Given the description of an element on the screen output the (x, y) to click on. 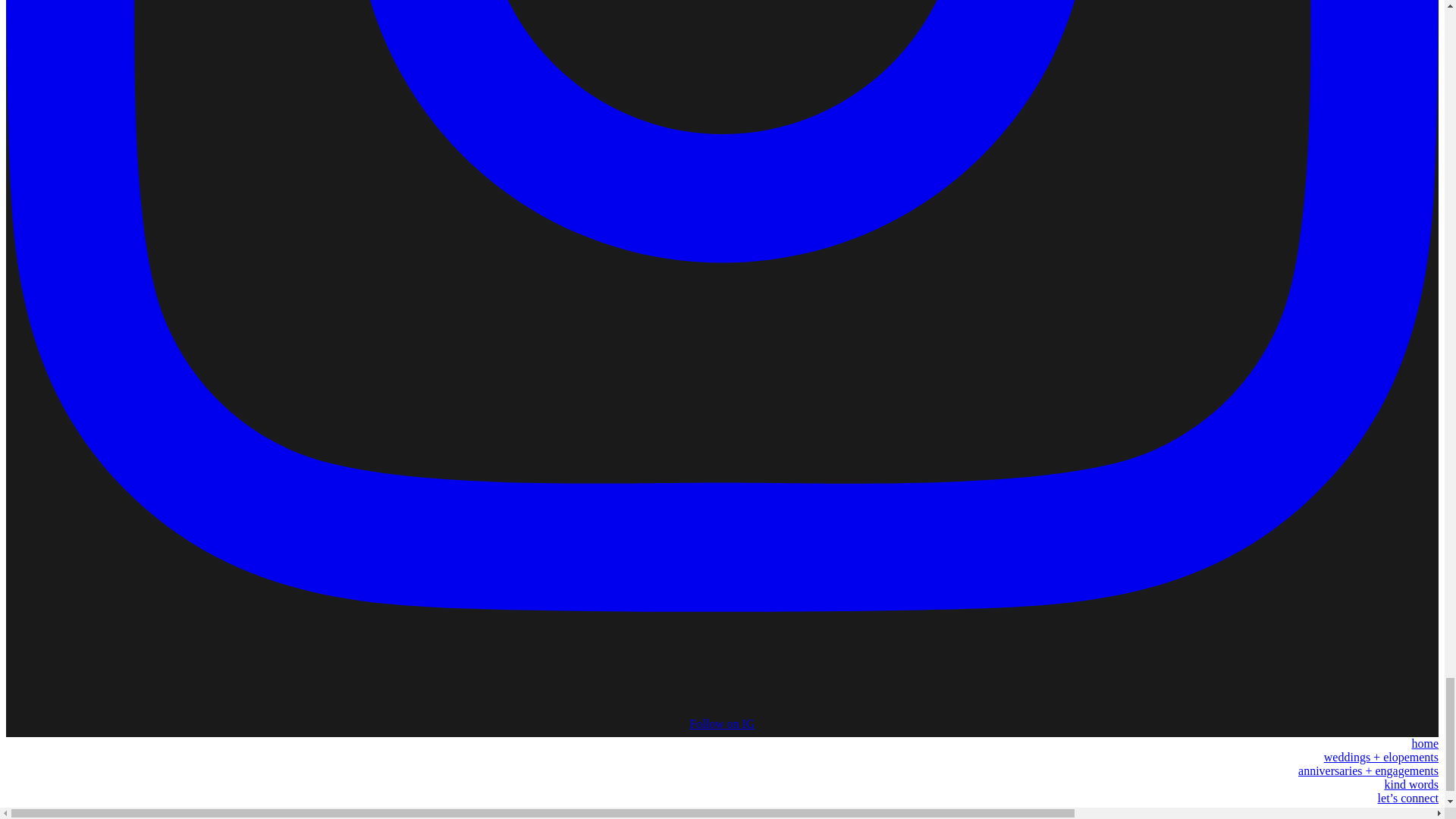
Follow on IG (721, 716)
kind words (1411, 784)
home (1424, 743)
